Given the description of an element on the screen output the (x, y) to click on. 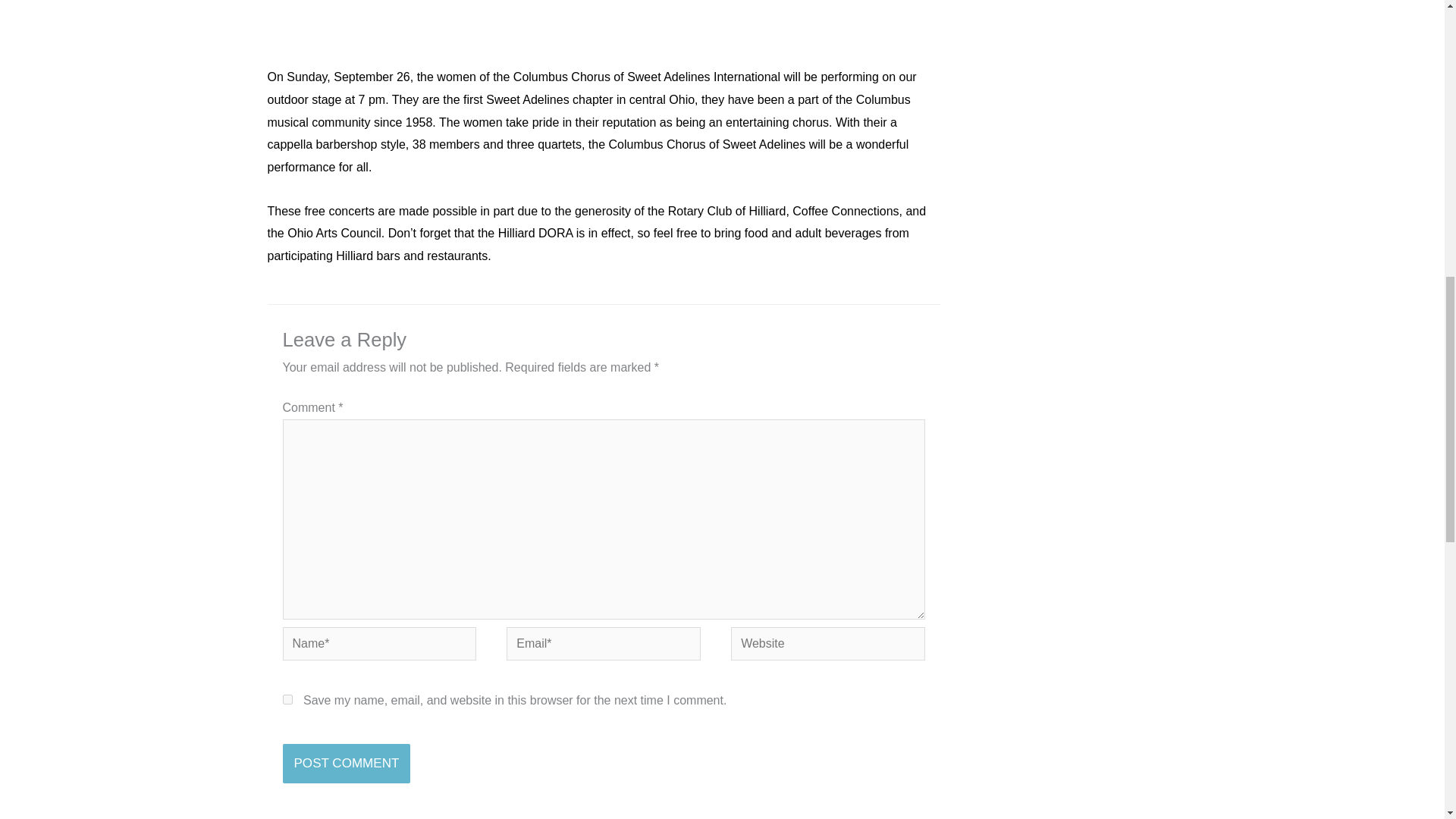
Post Comment (346, 762)
yes (287, 699)
